Given the description of an element on the screen output the (x, y) to click on. 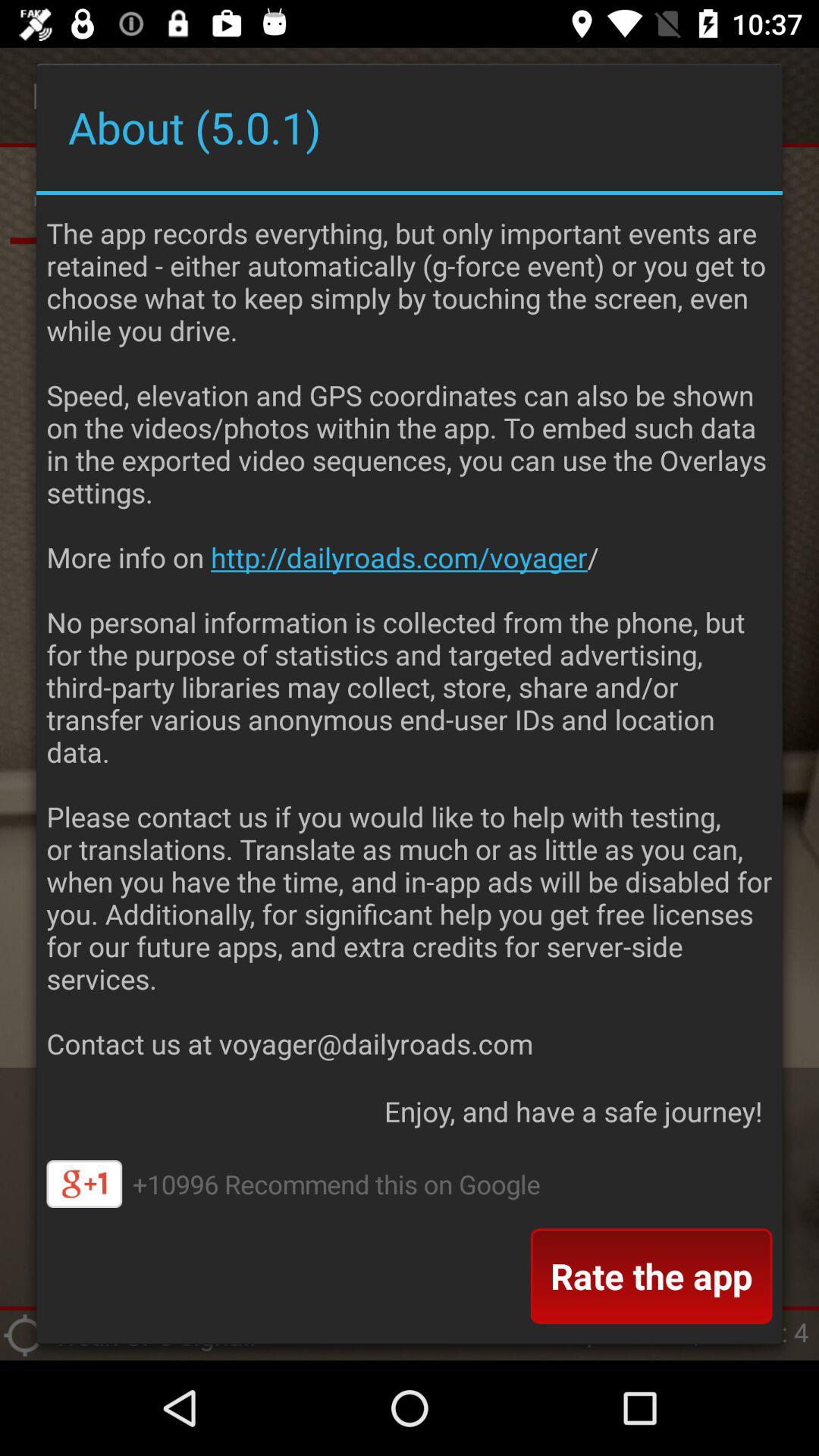
turn on item at the center (409, 633)
